Given the description of an element on the screen output the (x, y) to click on. 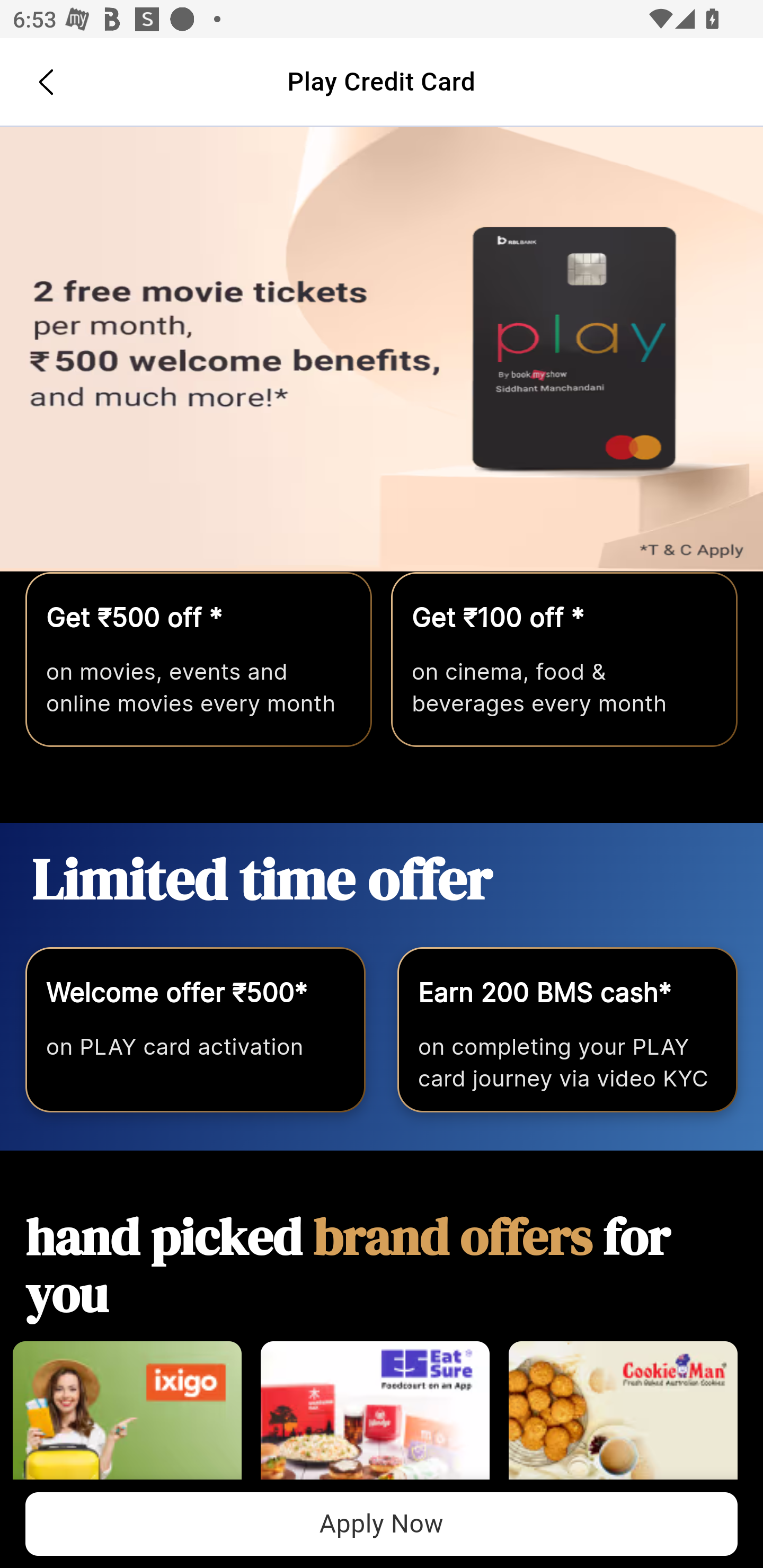
Apply Now (381, 349)
Ixigo (126, 1419)
EatSure (374, 1419)
Cookie Man (622, 1419)
Apply Now (381, 1523)
